Given the description of an element on the screen output the (x, y) to click on. 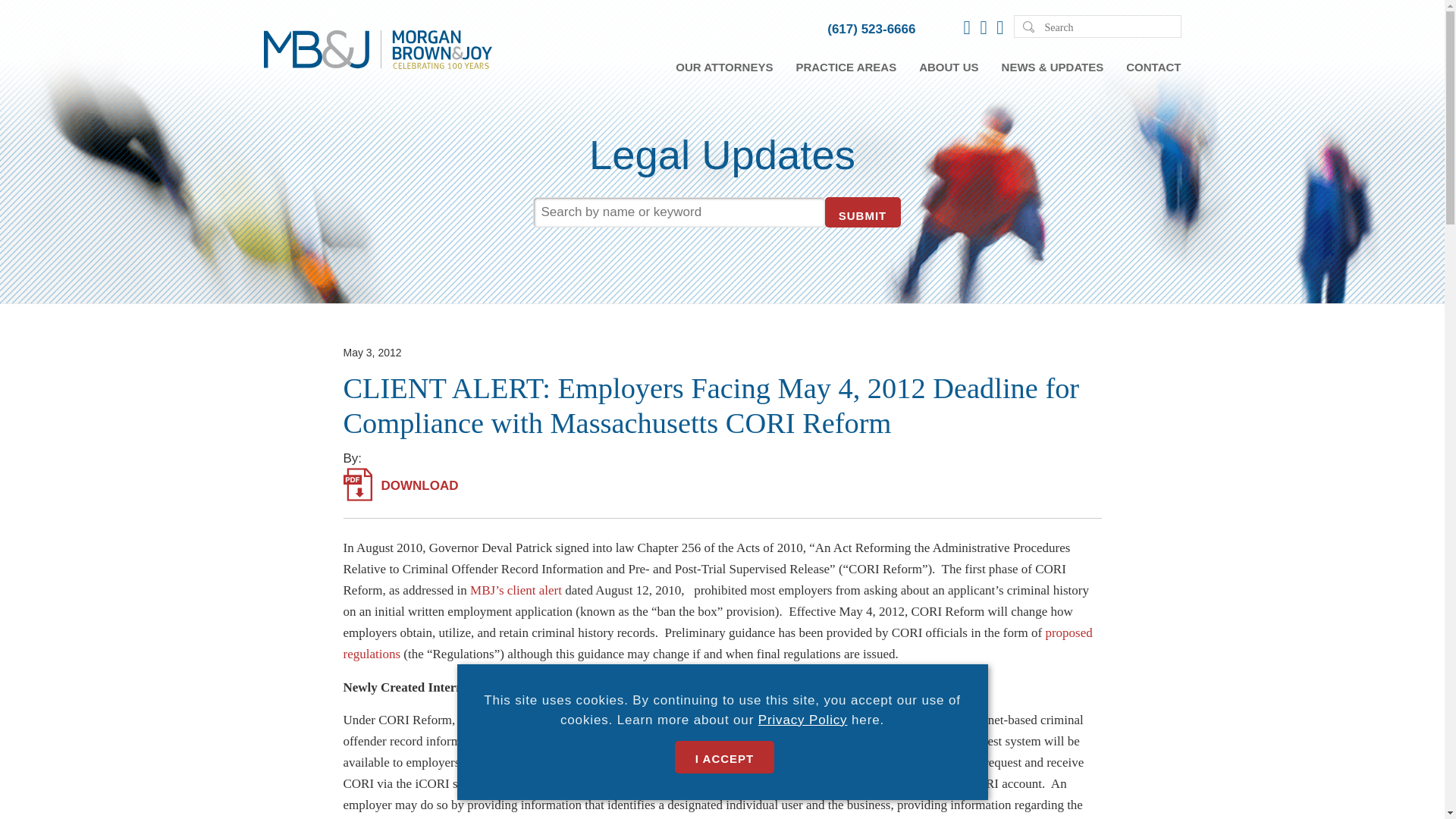
ABOUT US (948, 66)
OUR ATTORNEYS (724, 66)
proposed regulations (717, 642)
CONTACT (1152, 66)
SUBMIT (863, 212)
PRACTICE AREAS (845, 66)
DOWNLOAD (400, 485)
